Given the description of an element on the screen output the (x, y) to click on. 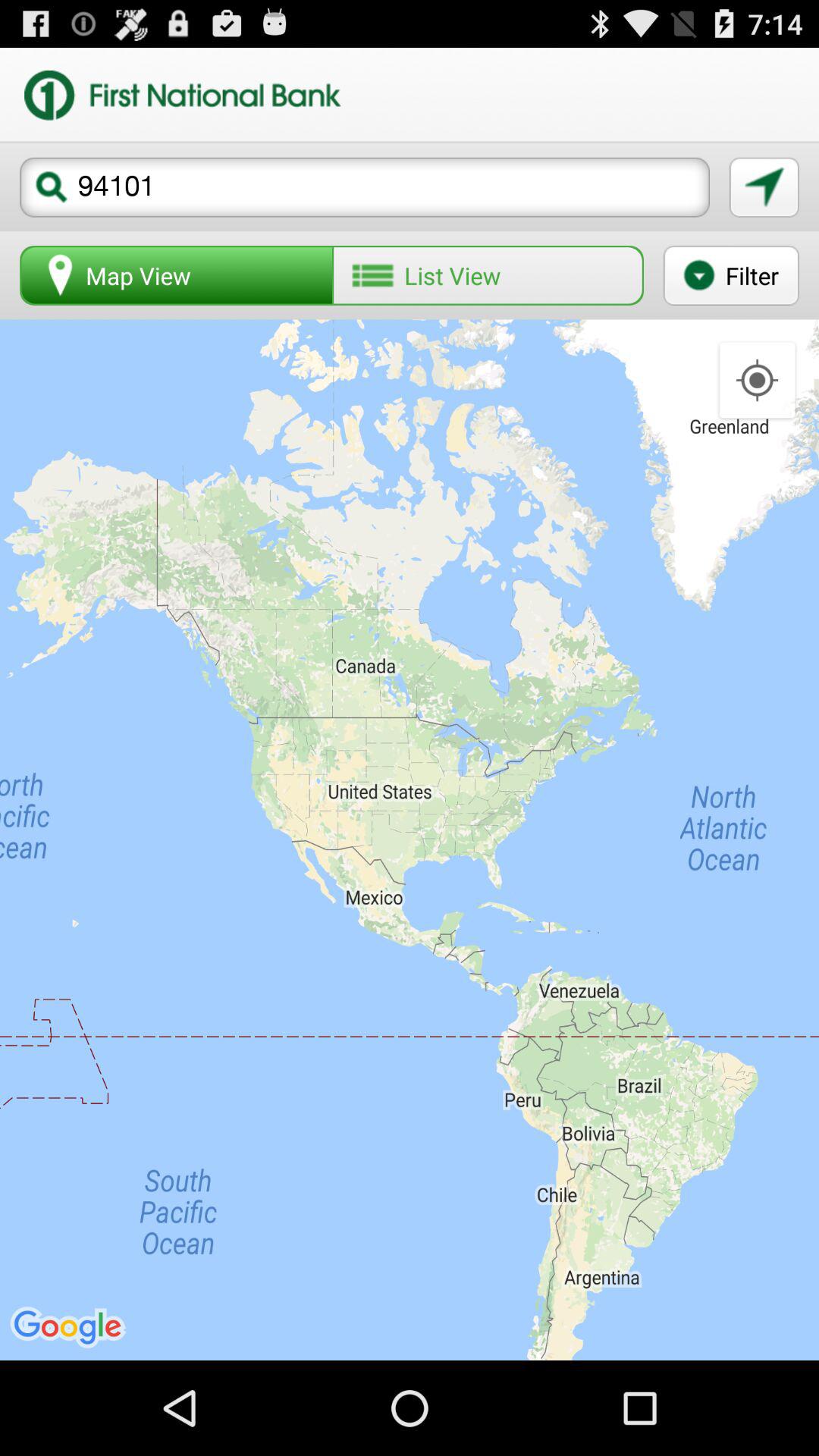
navigate to location (764, 187)
